Given the description of an element on the screen output the (x, y) to click on. 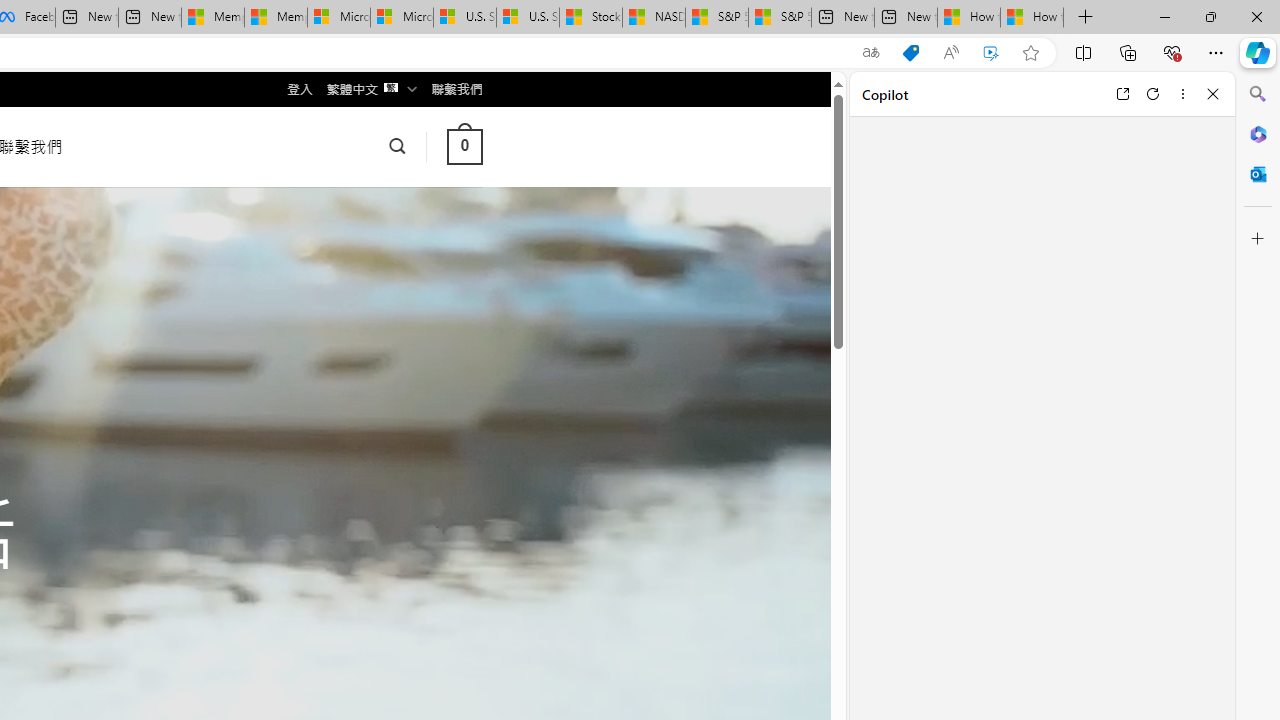
 0  (464, 146)
Show translate options (870, 53)
